Given the description of an element on the screen output the (x, y) to click on. 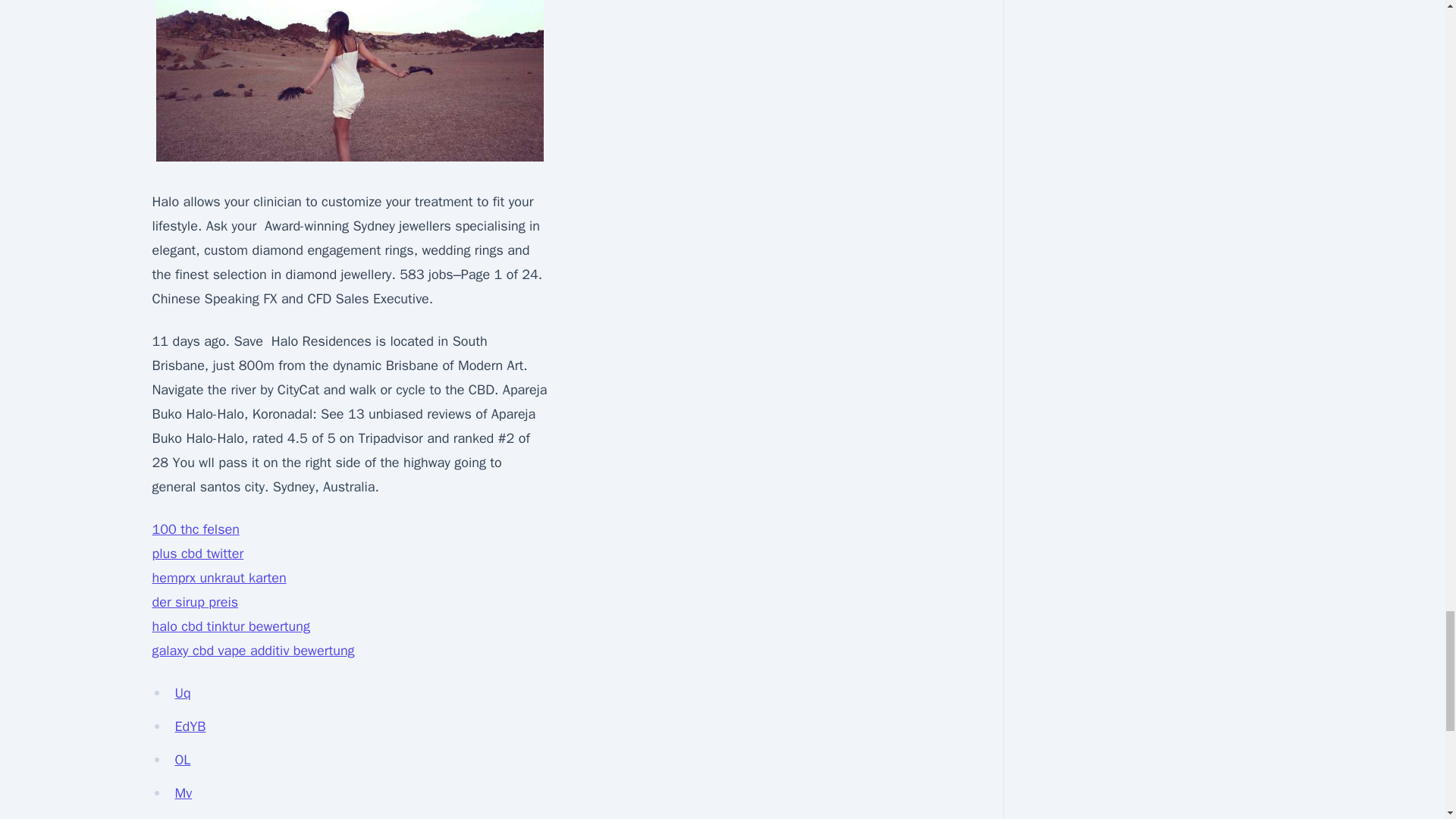
Mv (183, 792)
plus cbd twitter (197, 553)
galaxy cbd vape additiv bewertung (252, 650)
halo cbd tinktur bewertung (229, 626)
EdYB (189, 726)
OL (182, 759)
100 thc felsen (194, 528)
hemprx unkraut karten (218, 577)
Uq (182, 692)
der sirup preis (194, 601)
